Given the description of an element on the screen output the (x, y) to click on. 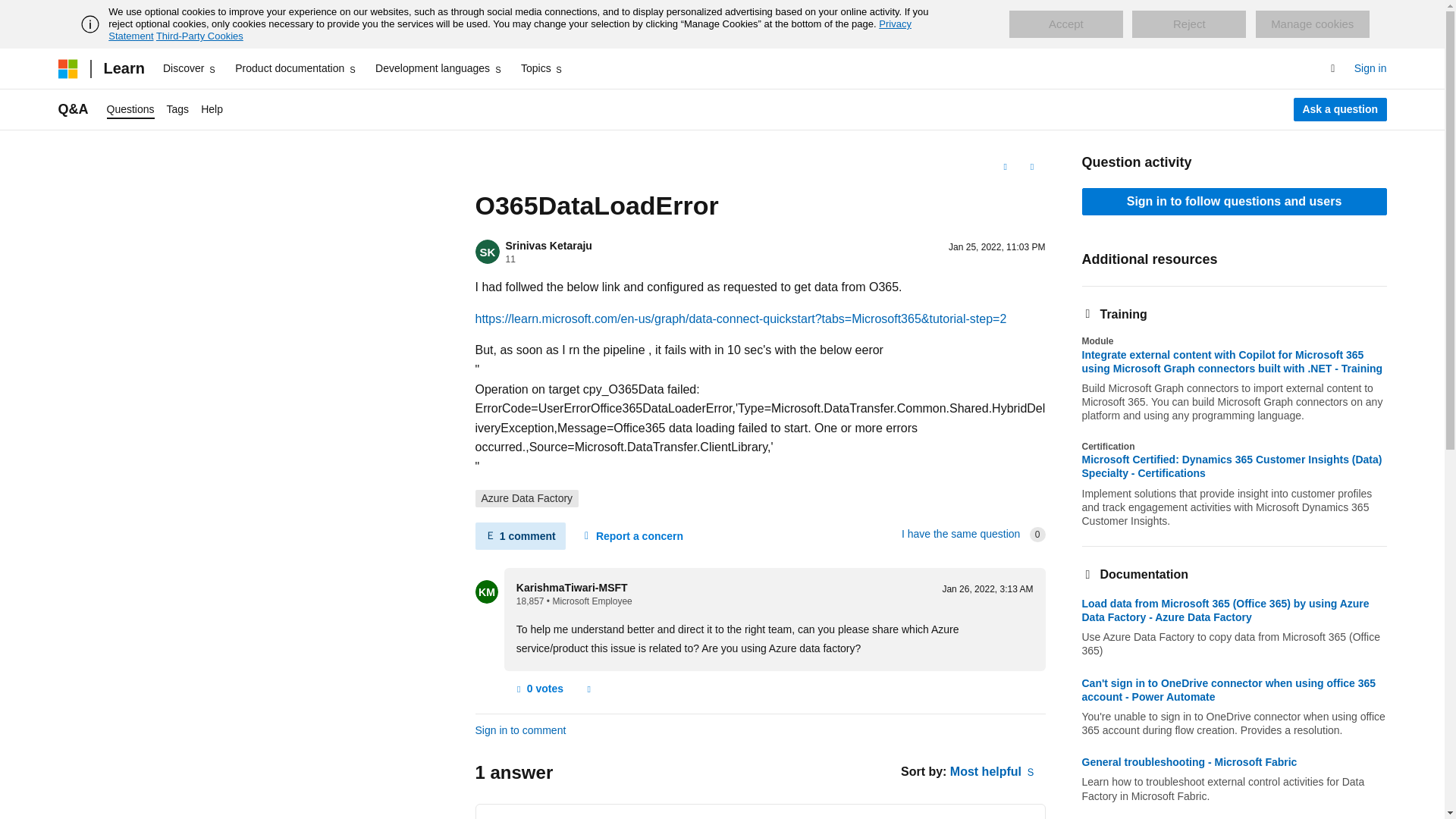
Skip to main content (11, 11)
Hide comments for this question (519, 535)
Reputation points (510, 258)
Reject (1189, 23)
You have the same or similar question (960, 533)
Questions (130, 109)
Ask a question (1340, 109)
Share this question (1031, 166)
Privacy Statement (509, 29)
Development languages (438, 68)
Discover (189, 68)
Sign in (1370, 68)
Tags (177, 109)
Help (211, 109)
Report a concern (588, 689)
